Given the description of an element on the screen output the (x, y) to click on. 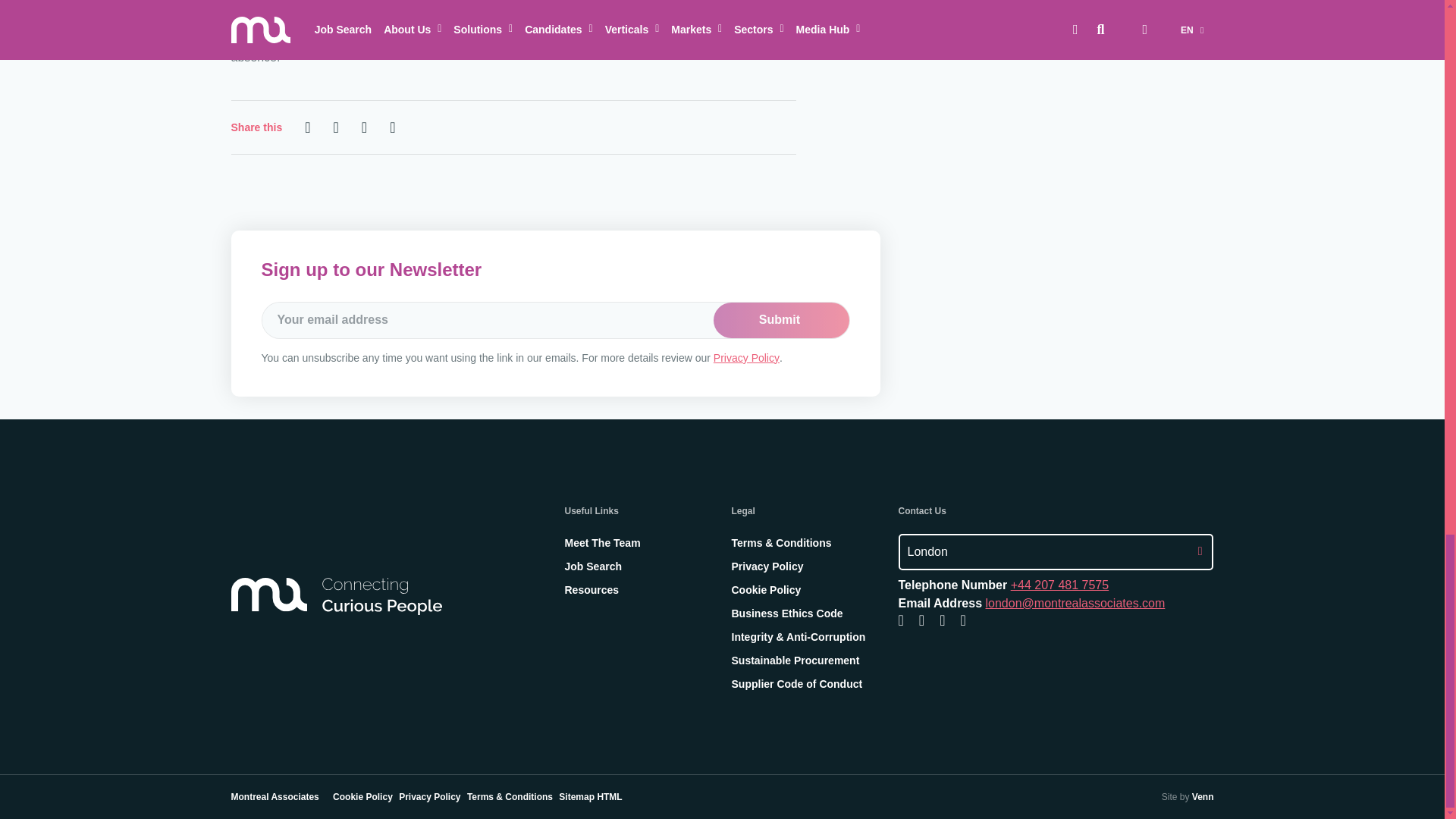
Submit  (780, 319)
